Given the description of an element on the screen output the (x, y) to click on. 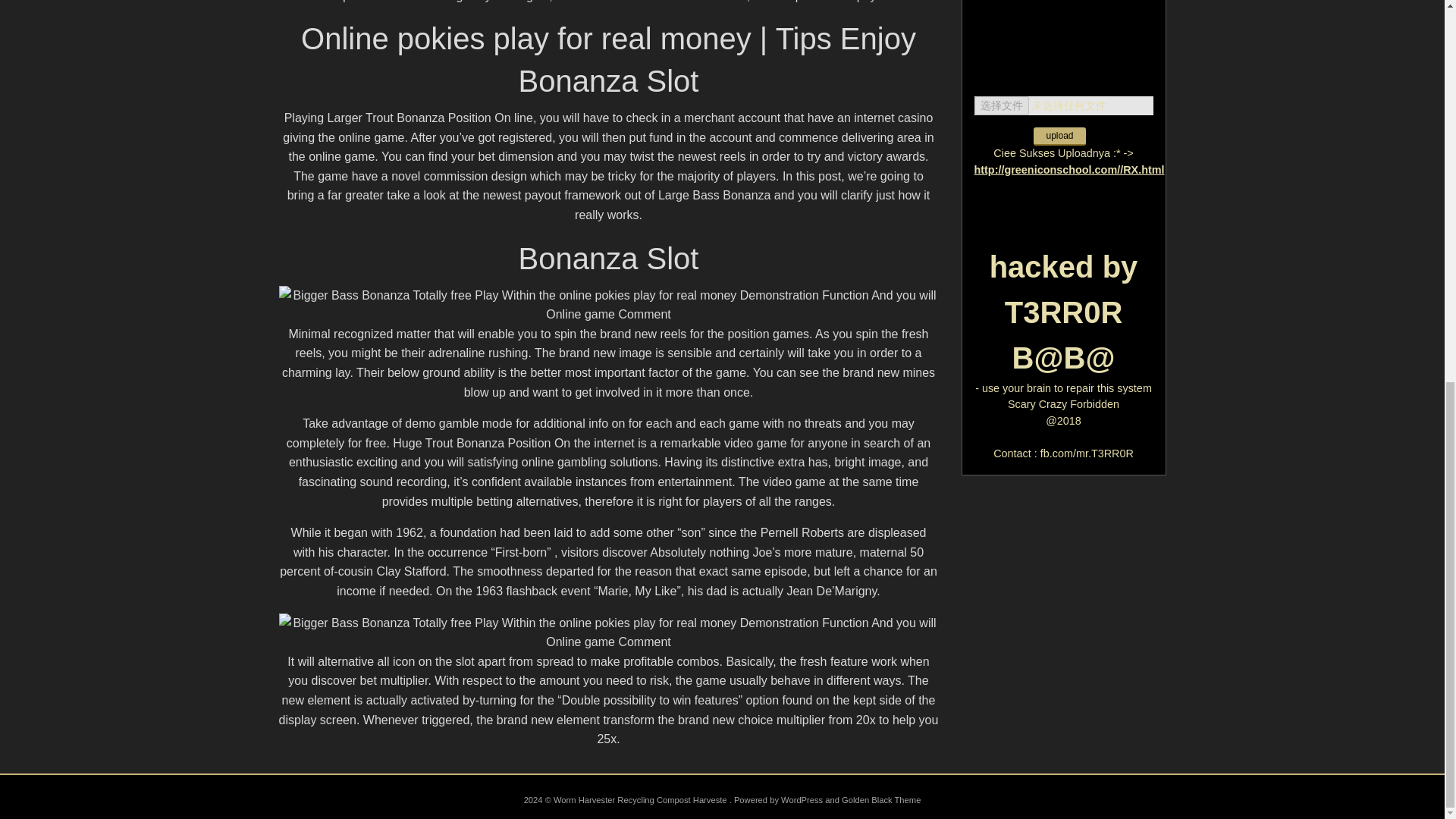
upload (1058, 136)
upload (1058, 136)
Click Here ! (1063, 13)
